Given the description of an element on the screen output the (x, y) to click on. 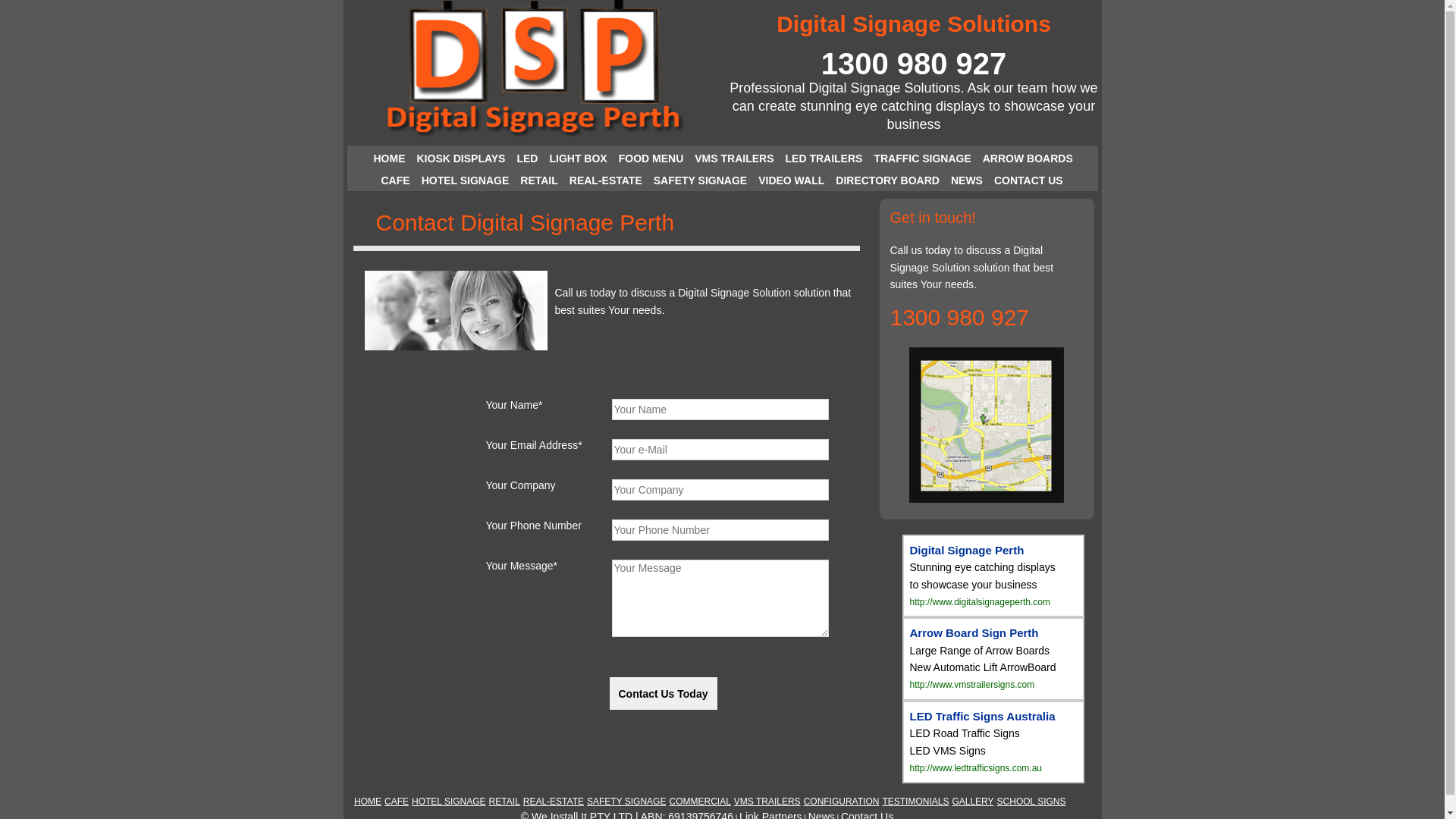
CAFE Element type: text (397, 182)
HOME Element type: text (367, 801)
Your Company Element type: hover (719, 489)
Your Name Element type: hover (719, 409)
SAFETY SIGNAGE Element type: text (626, 801)
GALLERY Element type: text (972, 801)
REAL-ESTATE Element type: text (553, 801)
CAFE Element type: text (396, 801)
RETAIL Element type: text (540, 182)
CONFIGURATION Element type: text (841, 801)
Large Range of Arrow Boards
New Automatic Lift ArrowBoard Element type: text (983, 658)
REAL-ESTATE Element type: text (607, 182)
ARROW BOARDS Element type: text (1029, 160)
DIRECTORY BOARD Element type: text (889, 182)
Stunning eye catching displays
to showcase your business Element type: text (982, 575)
HOME Element type: text (391, 160)
VMS TRAILERS Element type: text (735, 160)
LED Traffic Signs Australia Element type: text (982, 716)
HOTEL SIGNAGE Element type: text (467, 182)
TESTIMONIALS Element type: text (915, 801)
HOTEL SIGNAGE Element type: text (448, 801)
LED Road Traffic Signs
LED VMS Signs Element type: text (964, 741)
VMS TRAILERS Element type: text (767, 801)
VIDEO WALL Element type: text (792, 182)
NEWS Element type: text (968, 182)
LED TRAILERS Element type: text (825, 160)
SAFETY SIGNAGE Element type: text (701, 182)
SCHOOL SIGNS Element type: text (1031, 801)
Digital Signage Perth Element type: text (967, 550)
TRAFFIC SIGNAGE Element type: text (923, 160)
LED Element type: text (528, 160)
COMMERCIAL Element type: text (699, 801)
RETAIL Element type: text (504, 801)
Your Phone Number Element type: hover (719, 529)
http://www.vmstrailersigns.com Element type: text (972, 683)
Your e-Mail Element type: hover (719, 449)
FOOD MENU Element type: text (653, 160)
http://www.digitalsignageperth.com Element type: text (980, 601)
KIOSK DISPLAYS Element type: text (462, 160)
LIGHT BOX Element type: text (579, 160)
Arrow Board Sign Perth Element type: text (974, 633)
CONTACT US Element type: text (1030, 182)
Contact Us Today Element type: text (663, 693)
http://www.ledtrafficsigns.com.au Element type: text (976, 767)
